Given the description of an element on the screen output the (x, y) to click on. 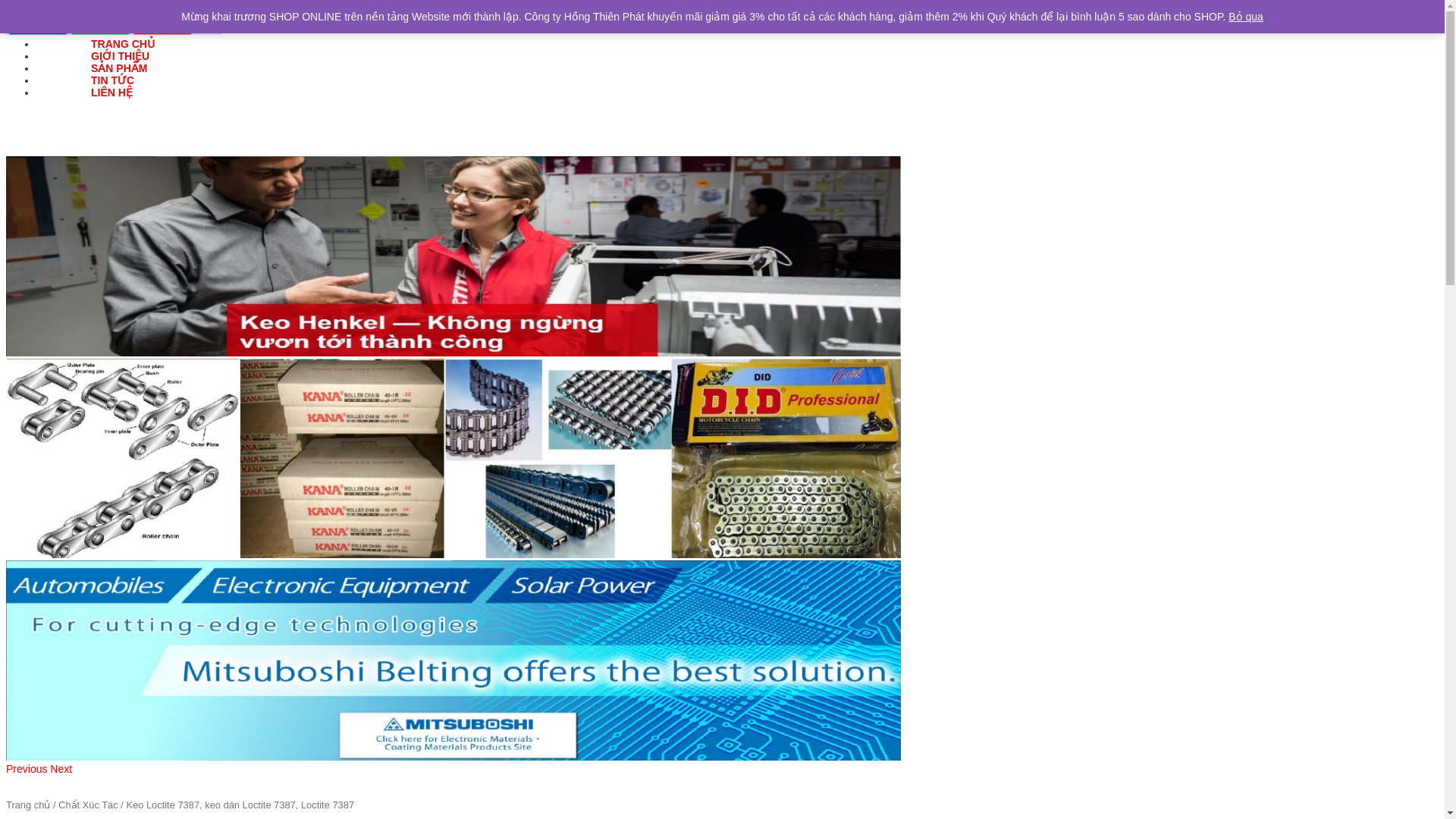
0938454791 (870, 20)
Next (60, 768)
Previous (27, 768)
